Given the description of an element on the screen output the (x, y) to click on. 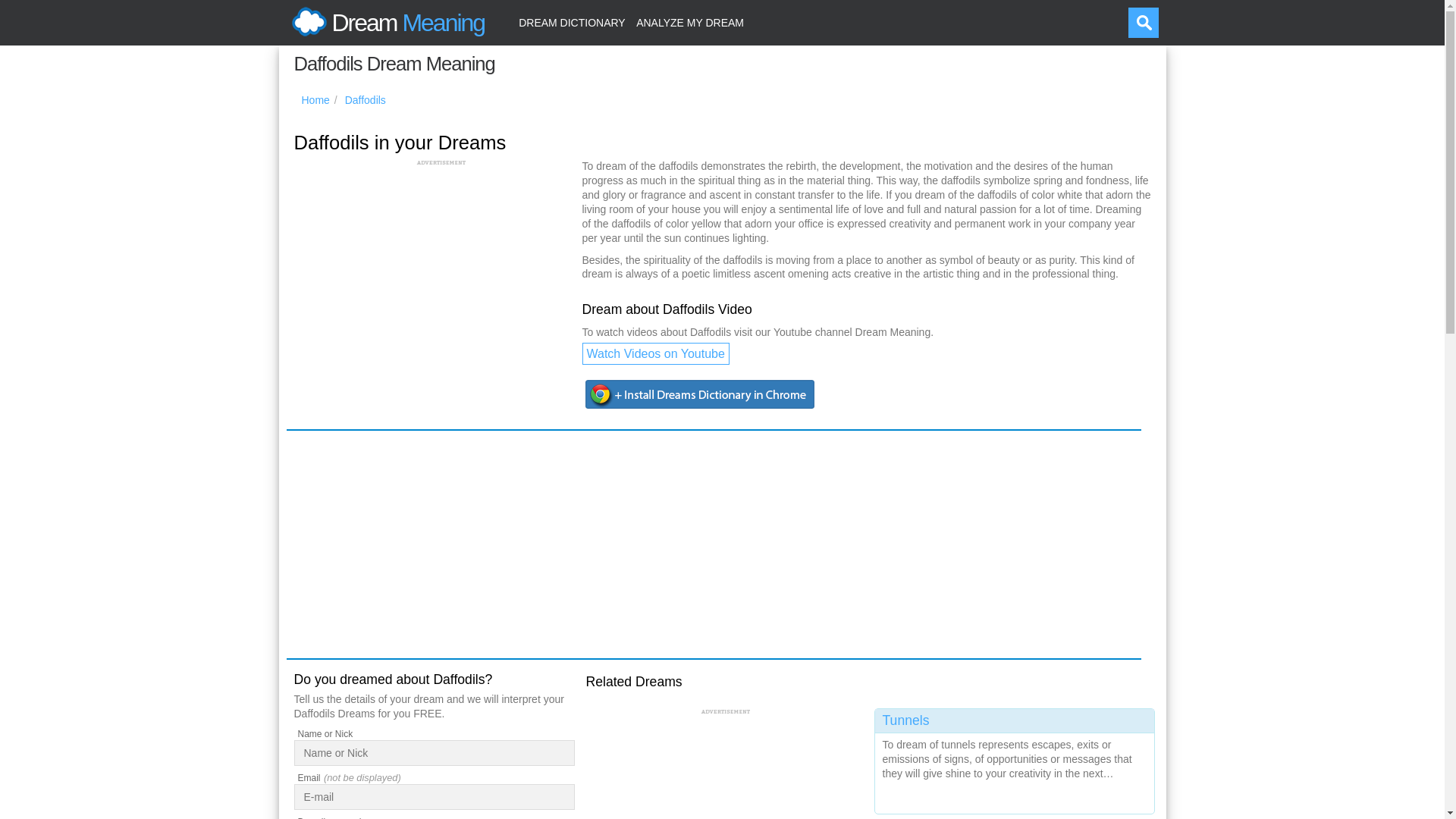
Dream Meaning Videos (655, 353)
DREAM DICTIONARY (572, 22)
Daffodils Dreams Interpretations and Meanings Explained (365, 100)
Analyze my Dream (690, 22)
ANALYZE MY DREAM (690, 22)
Dream Meaning (385, 22)
Dreams Interpretation and Meaning (385, 22)
Daffodils (365, 100)
Tunnels Dream Meaning (1014, 757)
